Given the description of an element on the screen output the (x, y) to click on. 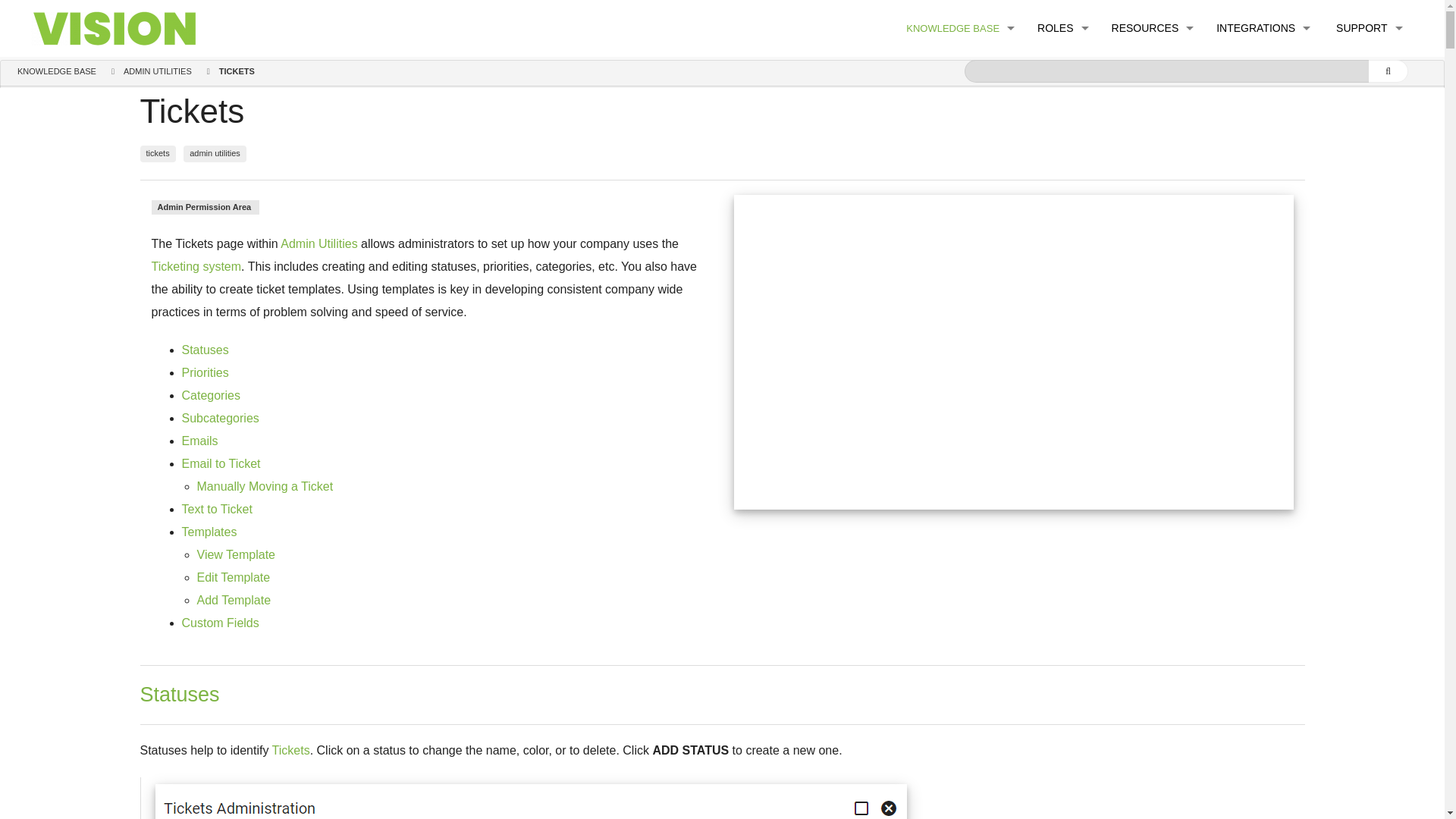
KNOWLEDGE BASE (960, 28)
Admin Utilities (960, 73)
Dashboard (960, 107)
